Given the description of an element on the screen output the (x, y) to click on. 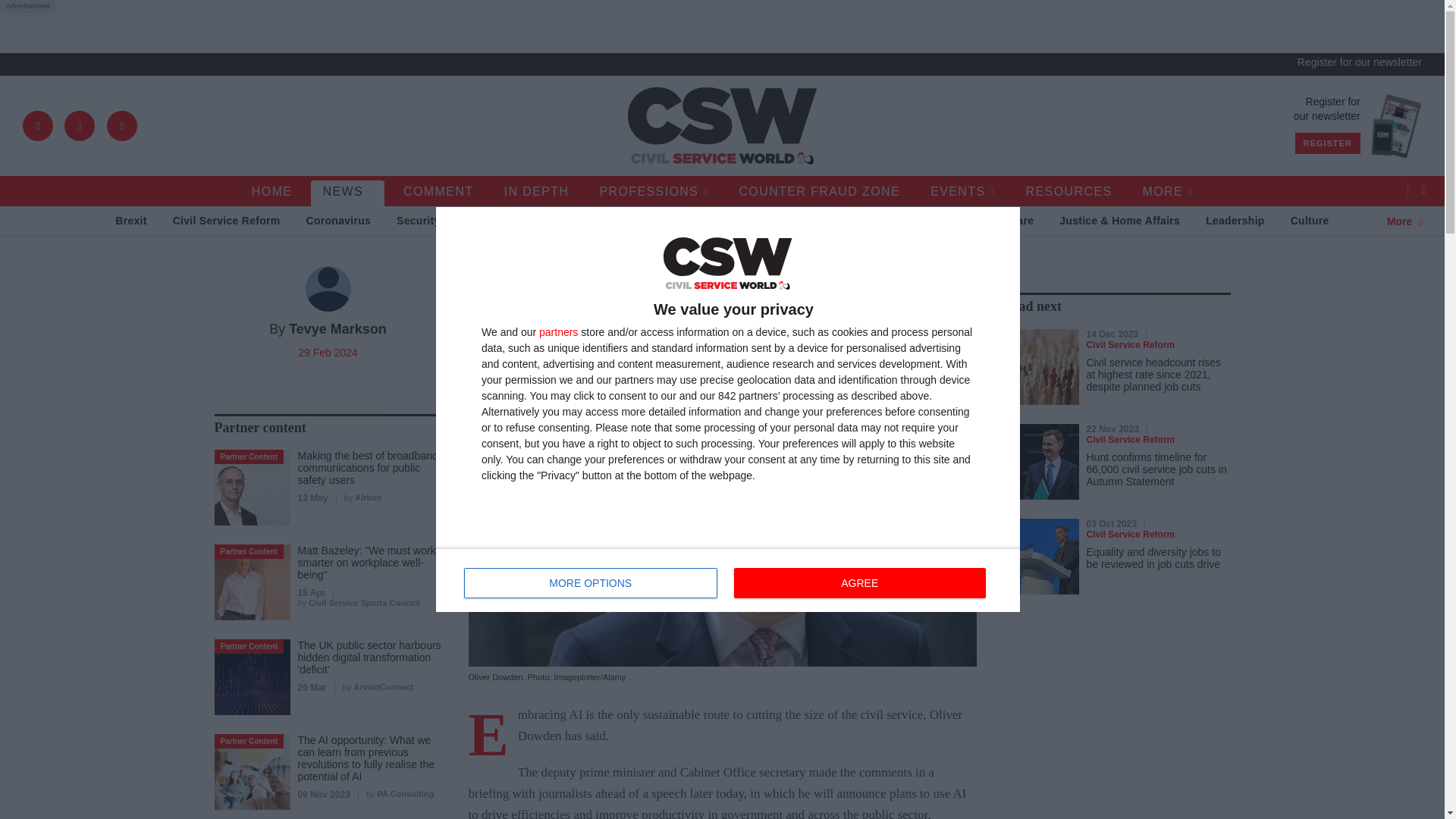
Civil Service World (721, 125)
NEWS (347, 193)
IN DEPTH (536, 193)
COMMENT (437, 193)
Register for our newsletter (1359, 61)
REGISTER (727, 579)
MORE OPTIONS (1327, 143)
AGREE (590, 583)
PROFESSIONS (859, 583)
partners (653, 193)
HOME (558, 331)
